Given the description of an element on the screen output the (x, y) to click on. 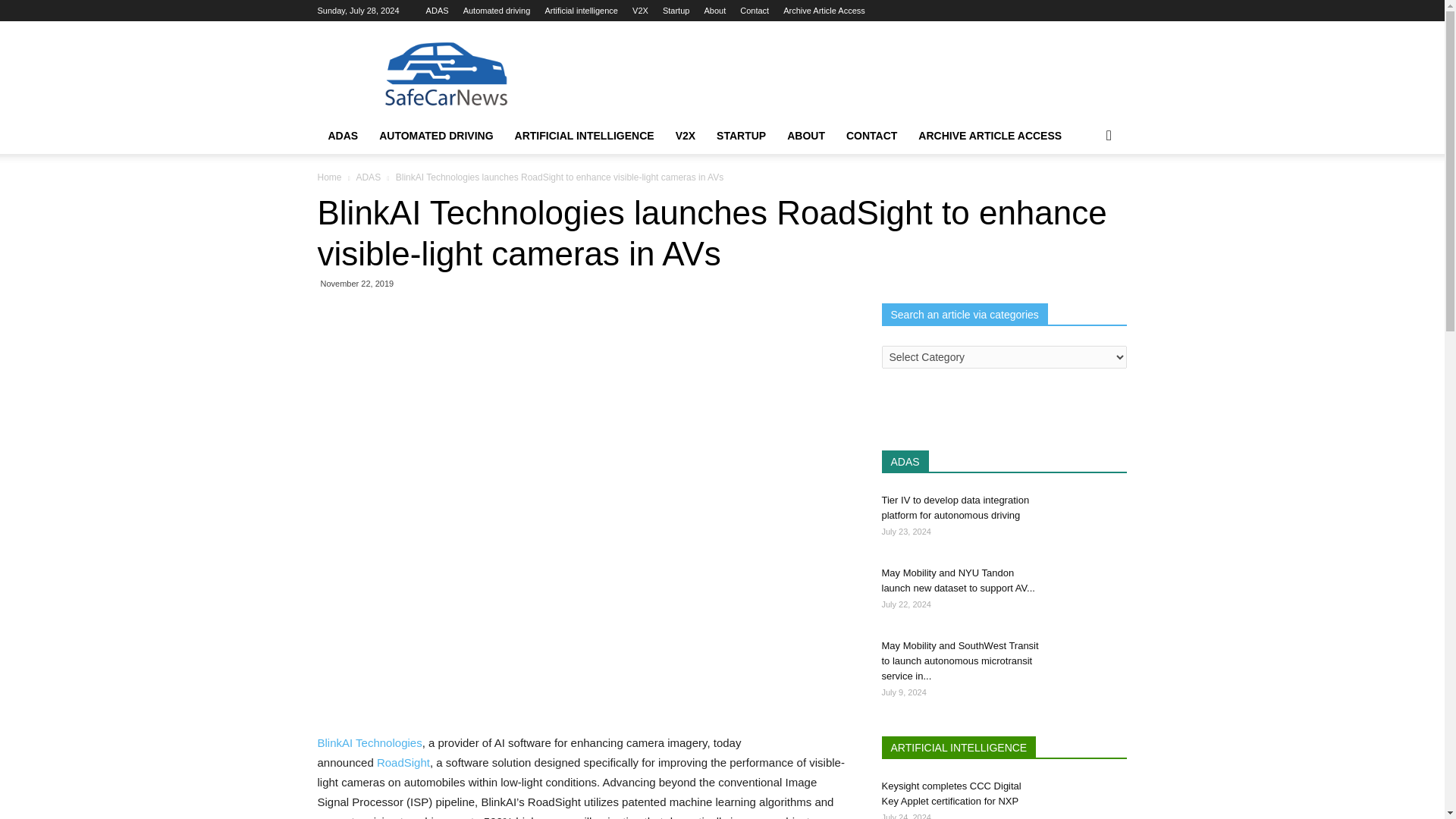
Artificial intelligence (580, 10)
V2X (639, 10)
AUTOMATED DRIVING (435, 135)
View all posts in ADAS (367, 176)
ADAS (437, 10)
Startup (675, 10)
ADAS (342, 135)
ABOUT (805, 135)
STARTUP (741, 135)
SafeCarNews Logo (445, 76)
About (714, 10)
V2X (685, 135)
Archive Article Access (823, 10)
Automated driving (497, 10)
ARTIFICIAL INTELLIGENCE (584, 135)
